Given the description of an element on the screen output the (x, y) to click on. 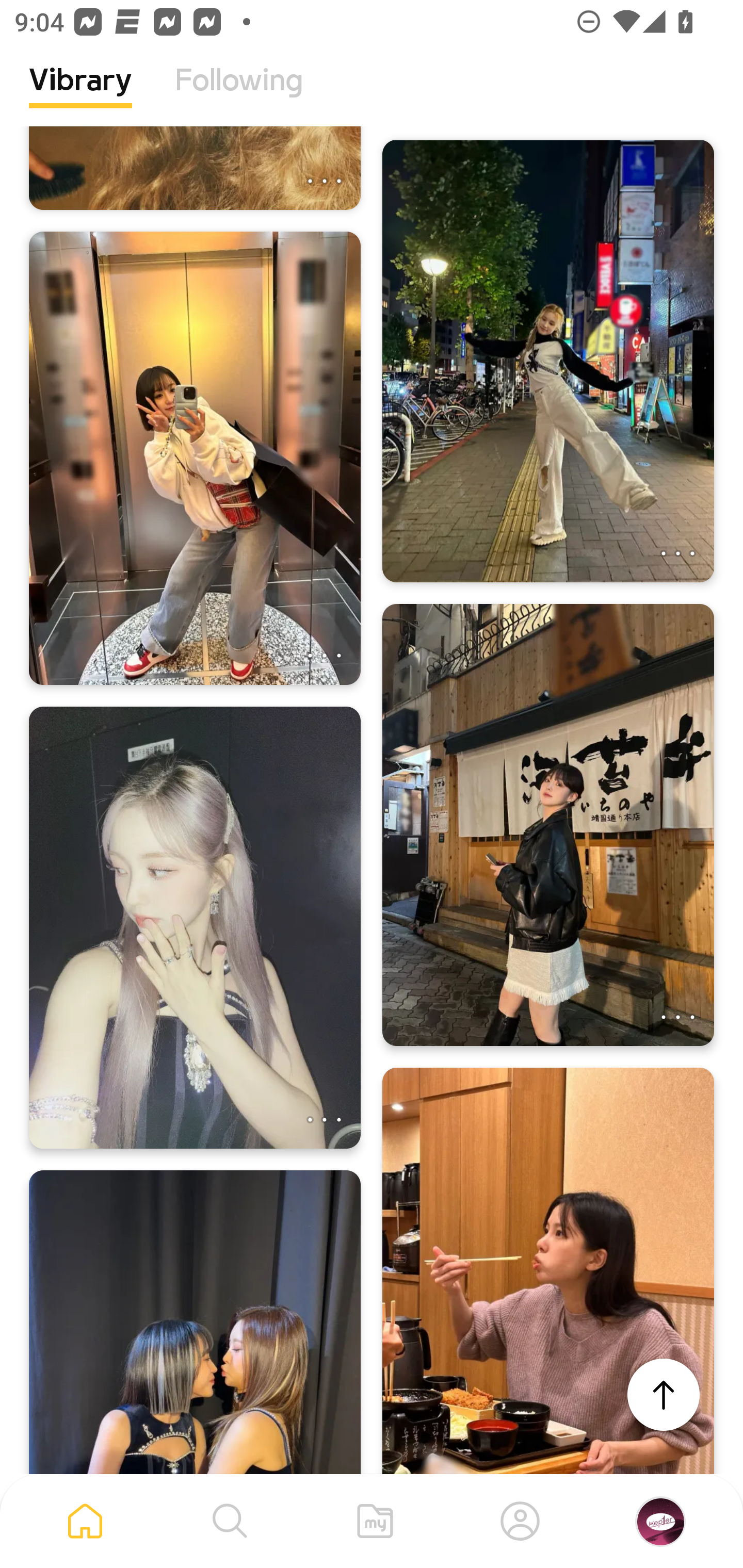
Vibrary (80, 95)
Following (239, 95)
